Given the description of an element on the screen output the (x, y) to click on. 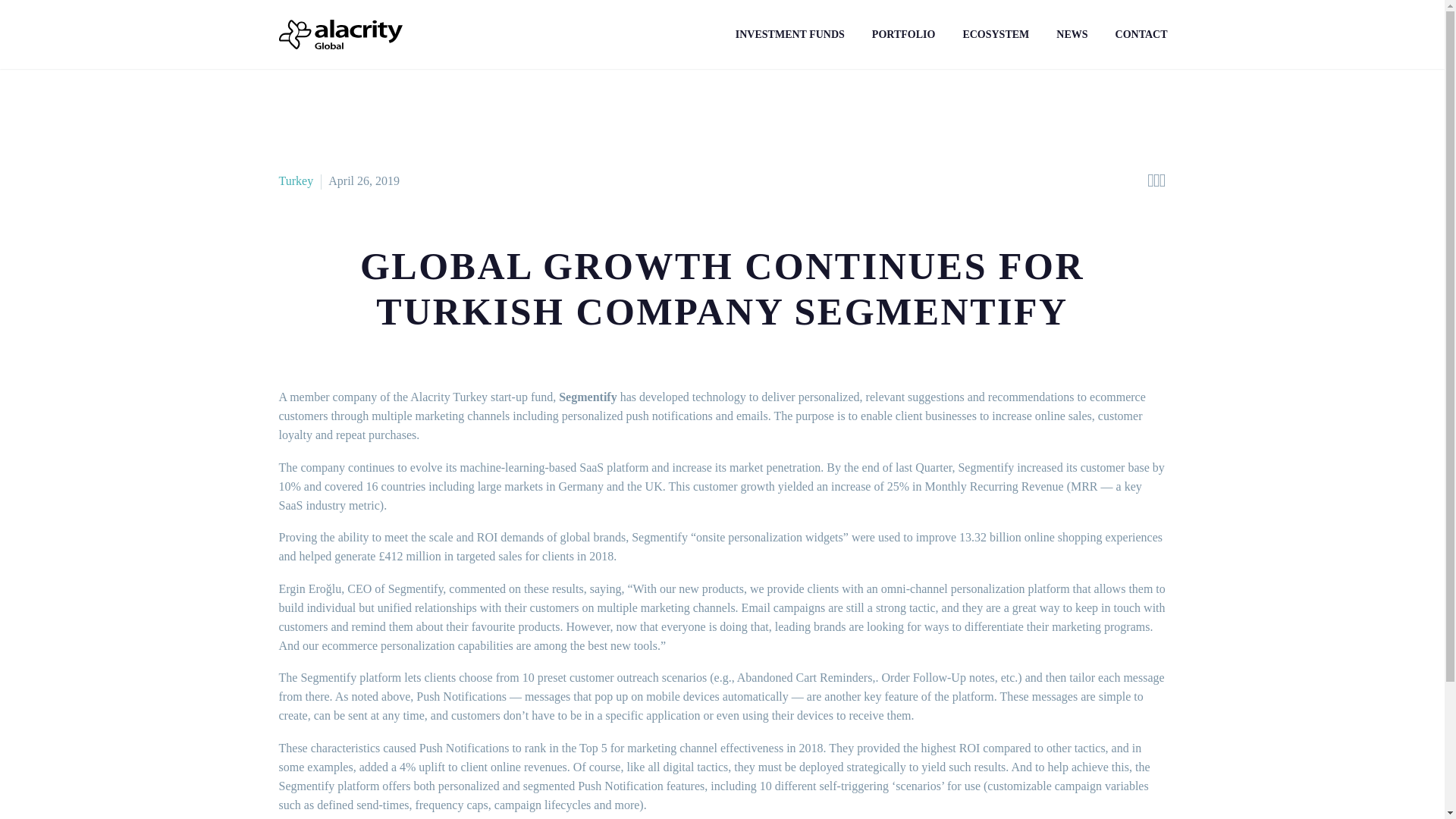
CONTACT (1141, 34)
PORTFOLIO (903, 34)
NEWS (1072, 34)
View all posts in Turkey (296, 180)
Turkey (296, 180)
INVESTMENT FUNDS (789, 34)
ECOSYSTEM (995, 34)
